Given the description of an element on the screen output the (x, y) to click on. 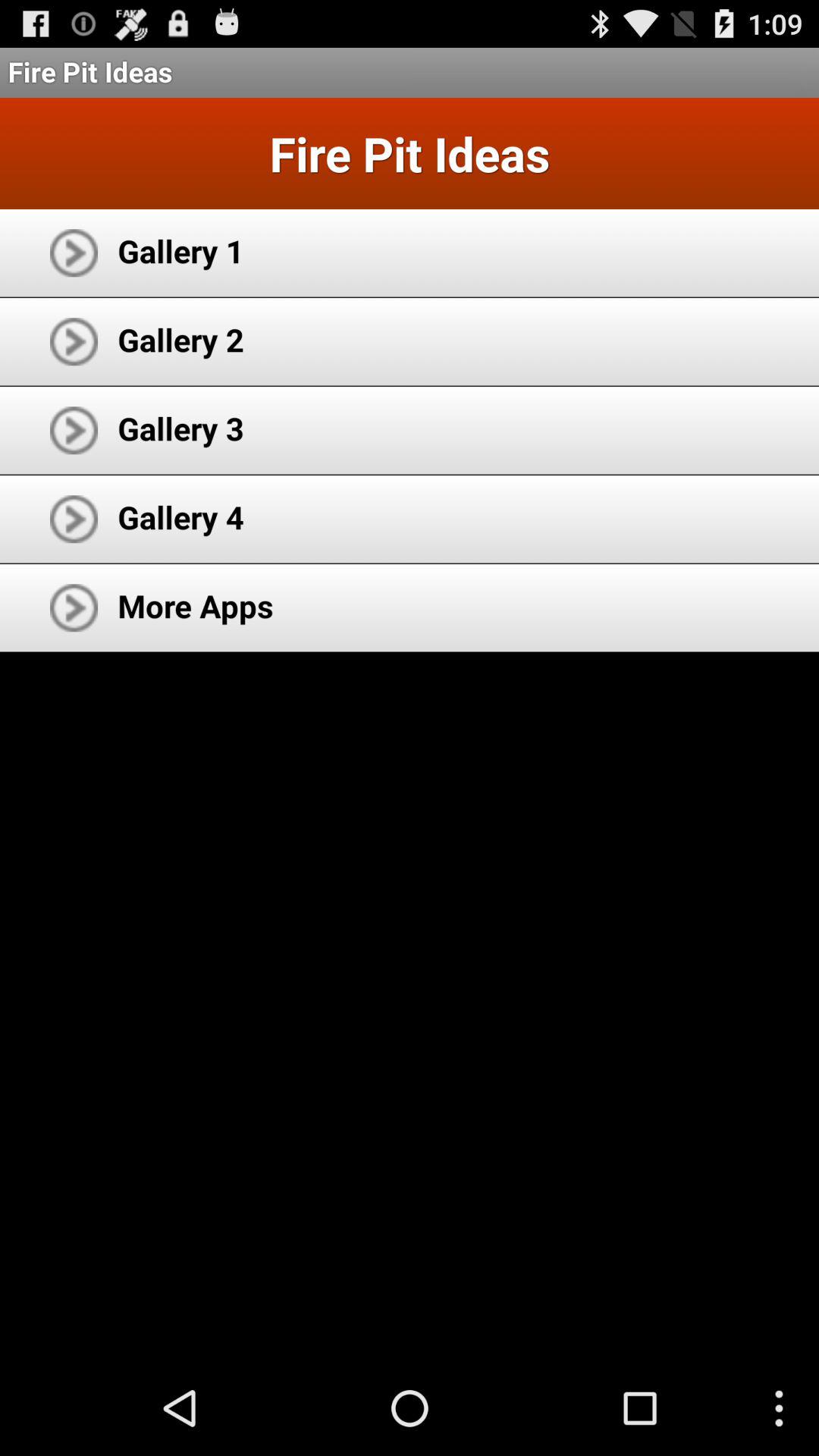
click more apps icon (195, 605)
